Given the description of an element on the screen output the (x, y) to click on. 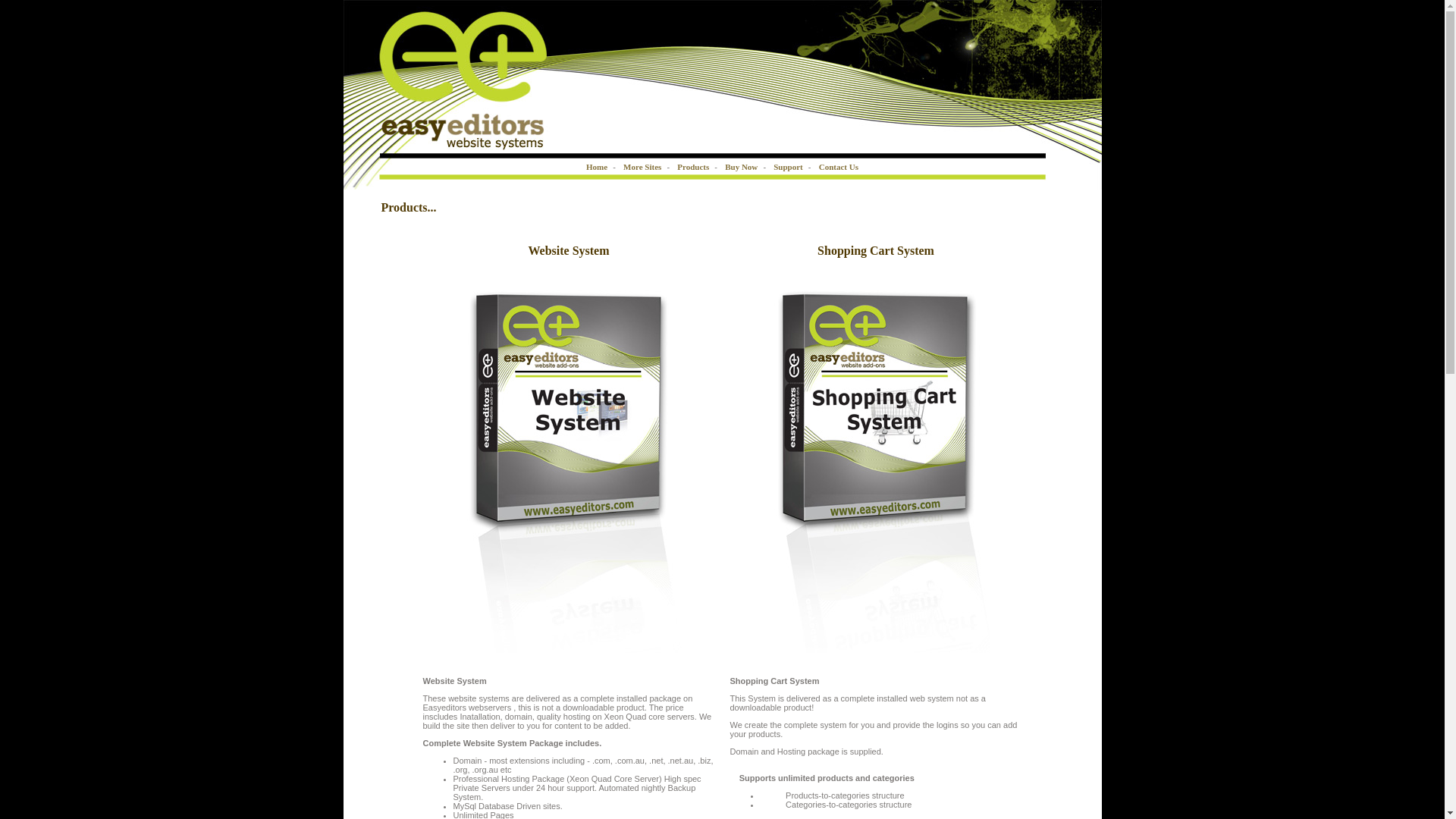
Contact Us Element type: text (838, 165)
Home Element type: text (596, 165)
Buy Now Element type: text (741, 165)
Support Element type: text (787, 165)
More Sites Element type: text (642, 165)
Products Element type: text (692, 165)
